Given the description of an element on the screen output the (x, y) to click on. 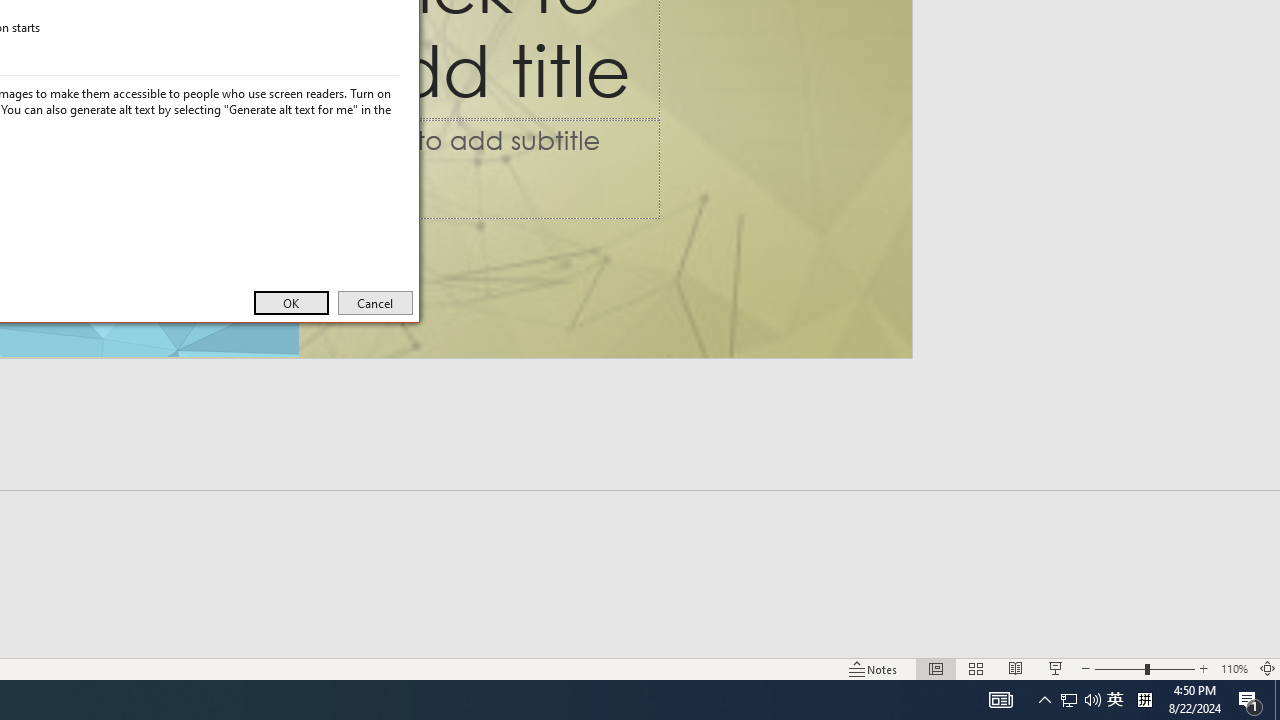
OK (290, 302)
Zoom 110% (1234, 668)
